Given the description of an element on the screen output the (x, y) to click on. 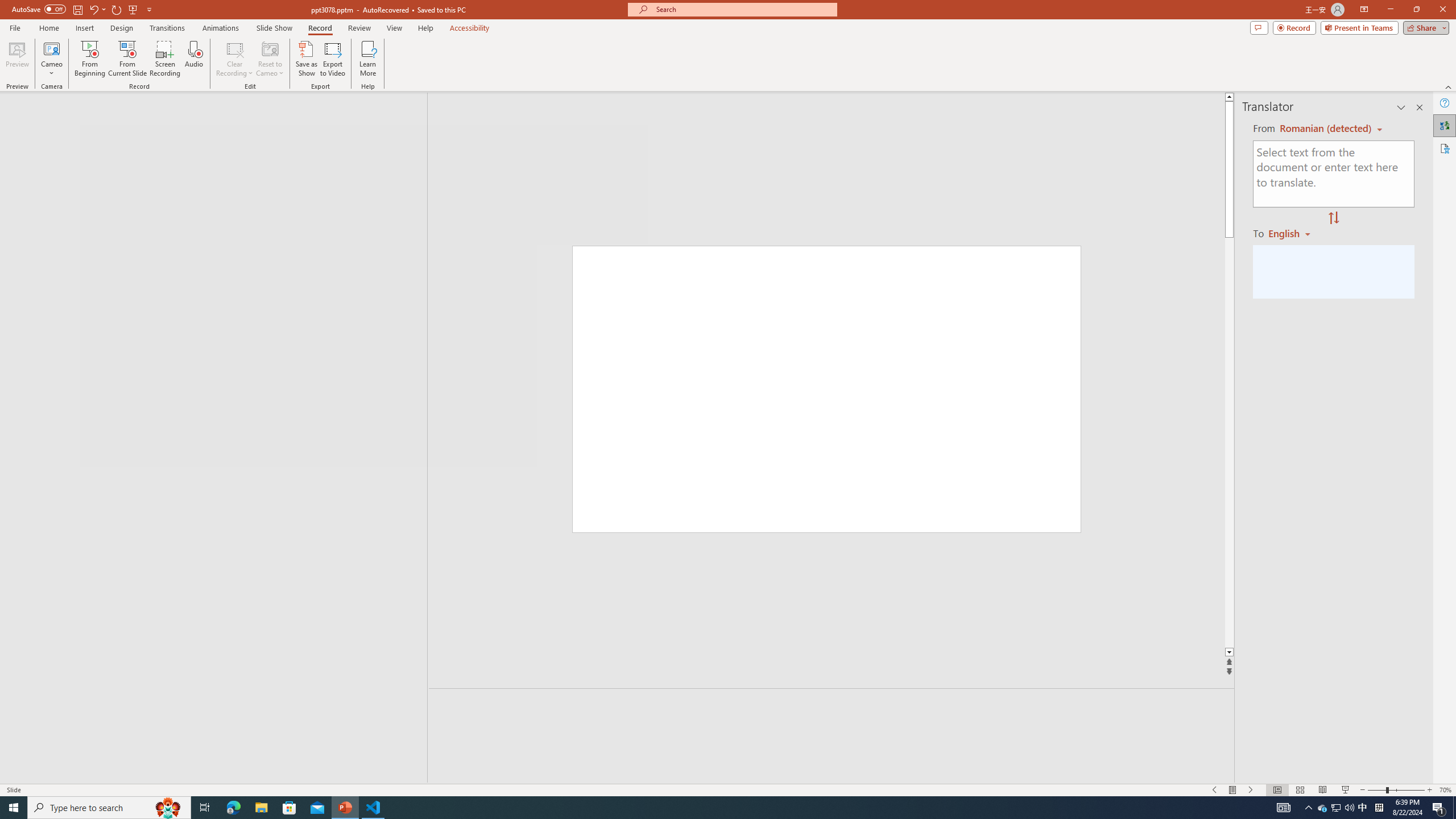
Swap "from" and "to" languages. (1333, 218)
Reset to Cameo (269, 58)
Class: MsoCommandBar (728, 789)
Romanian (detected) (1323, 128)
System (6, 6)
Zoom In (1430, 790)
File Tab (15, 27)
Translator (1444, 125)
Undo (92, 9)
Comments (1259, 27)
Microsoft search (742, 9)
Collapse the Ribbon (1448, 86)
View (395, 28)
